Given the description of an element on the screen output the (x, y) to click on. 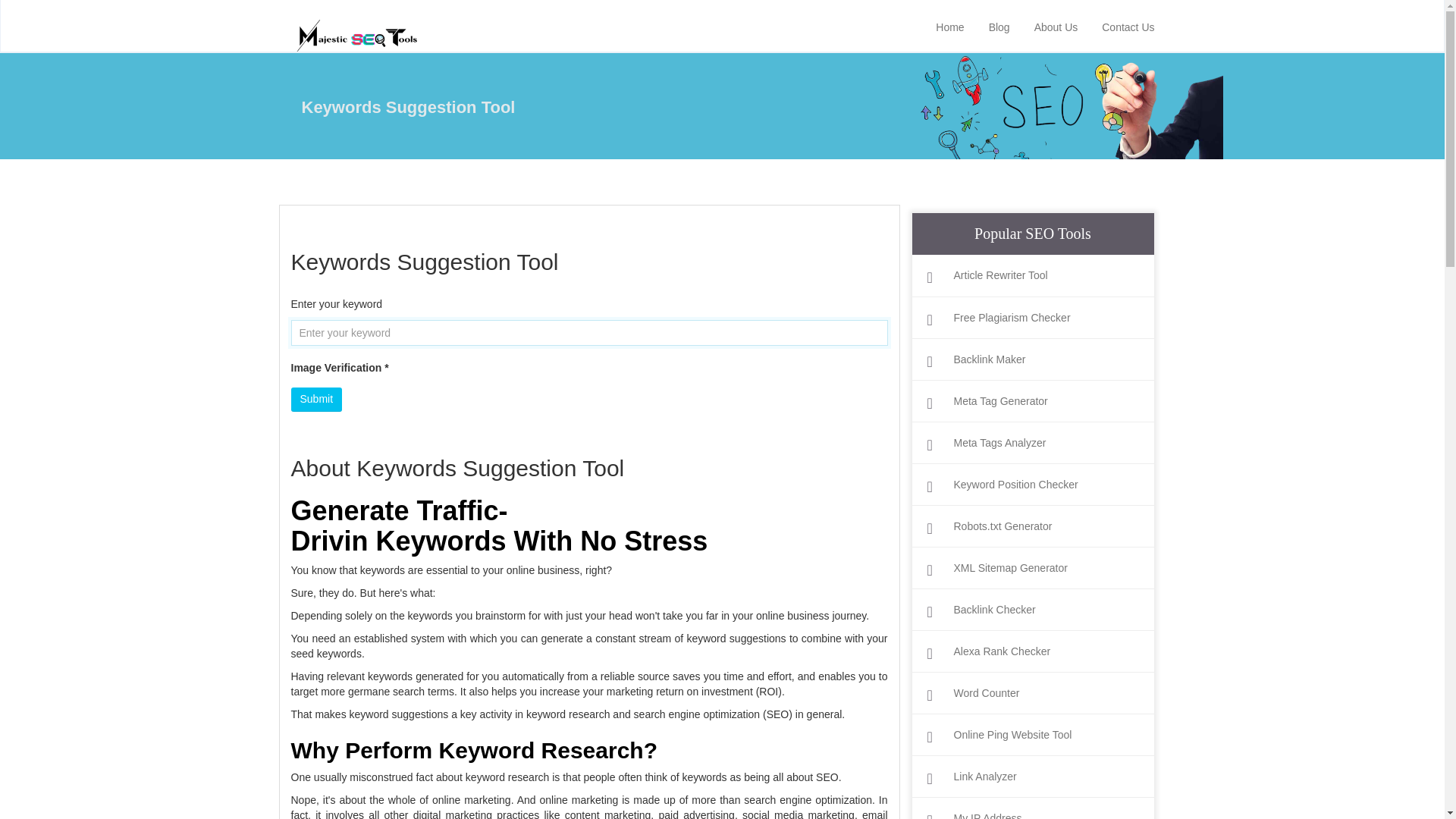
Submit (316, 399)
Alexa Rank Checker (1031, 651)
About Us (1056, 25)
Contact Us (1128, 25)
Backlink Checker (1031, 610)
Keyword Position Checker (1031, 484)
Free Plagiarism Checker (1031, 317)
Link Analyzer (1031, 776)
Online Ping Website Tool (1031, 734)
Meta Tags Analyzer (1031, 442)
Word Counter (1031, 693)
Meta Tag Generator (1031, 401)
Home (949, 25)
Backlink Maker (1031, 359)
Submit (316, 399)
